Given the description of an element on the screen output the (x, y) to click on. 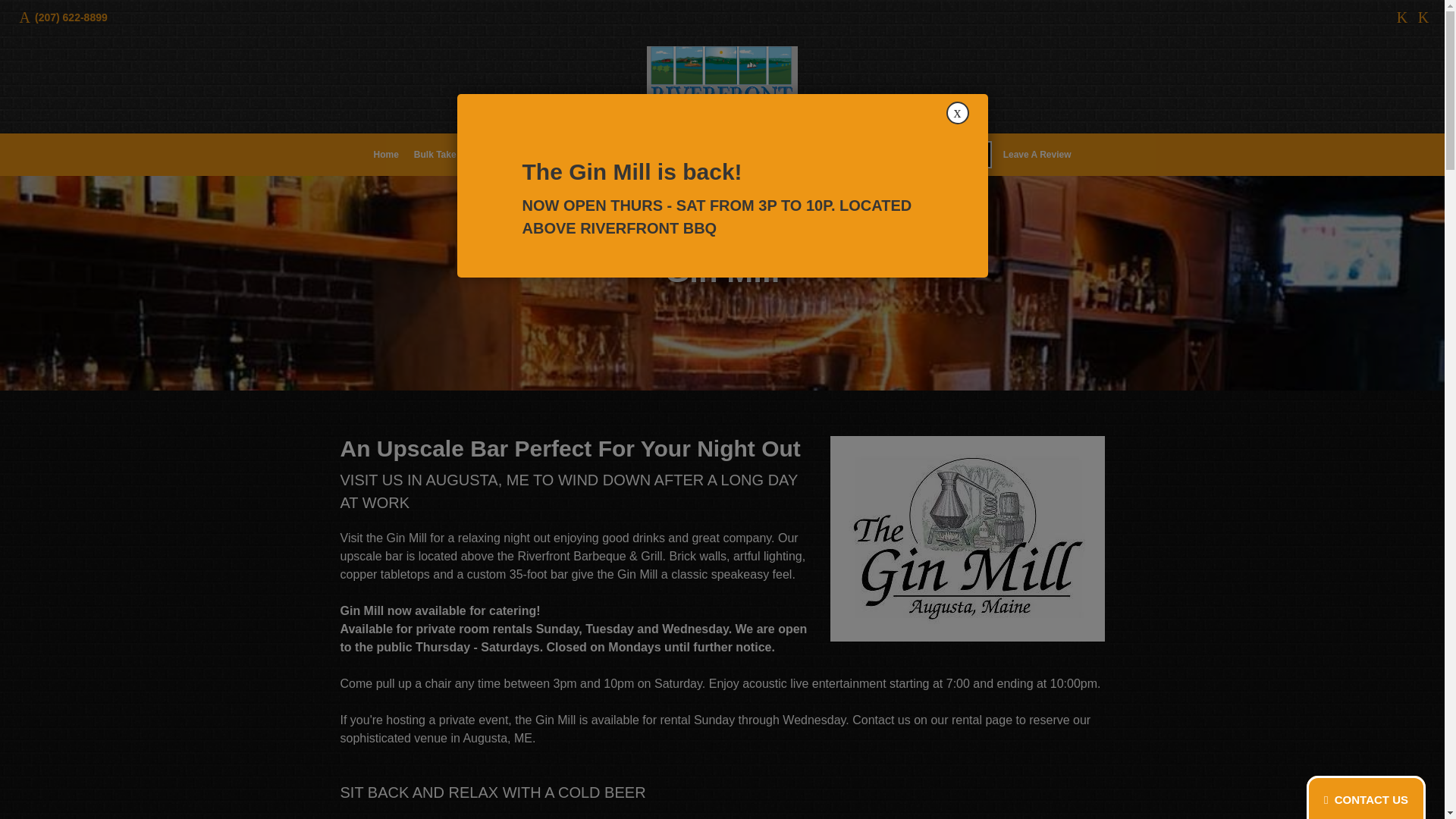
Contact Us (771, 154)
Bulk Take Out (443, 154)
Careers (714, 154)
Catering Form (951, 154)
Gin Mill Facebook (1401, 17)
Gin Mill (505, 154)
Menu (549, 154)
Testimonials (655, 154)
Catering (595, 154)
Bulk Take Out Form (855, 154)
Close (957, 112)
Leave A Review (1036, 154)
Home (385, 154)
